Given the description of an element on the screen output the (x, y) to click on. 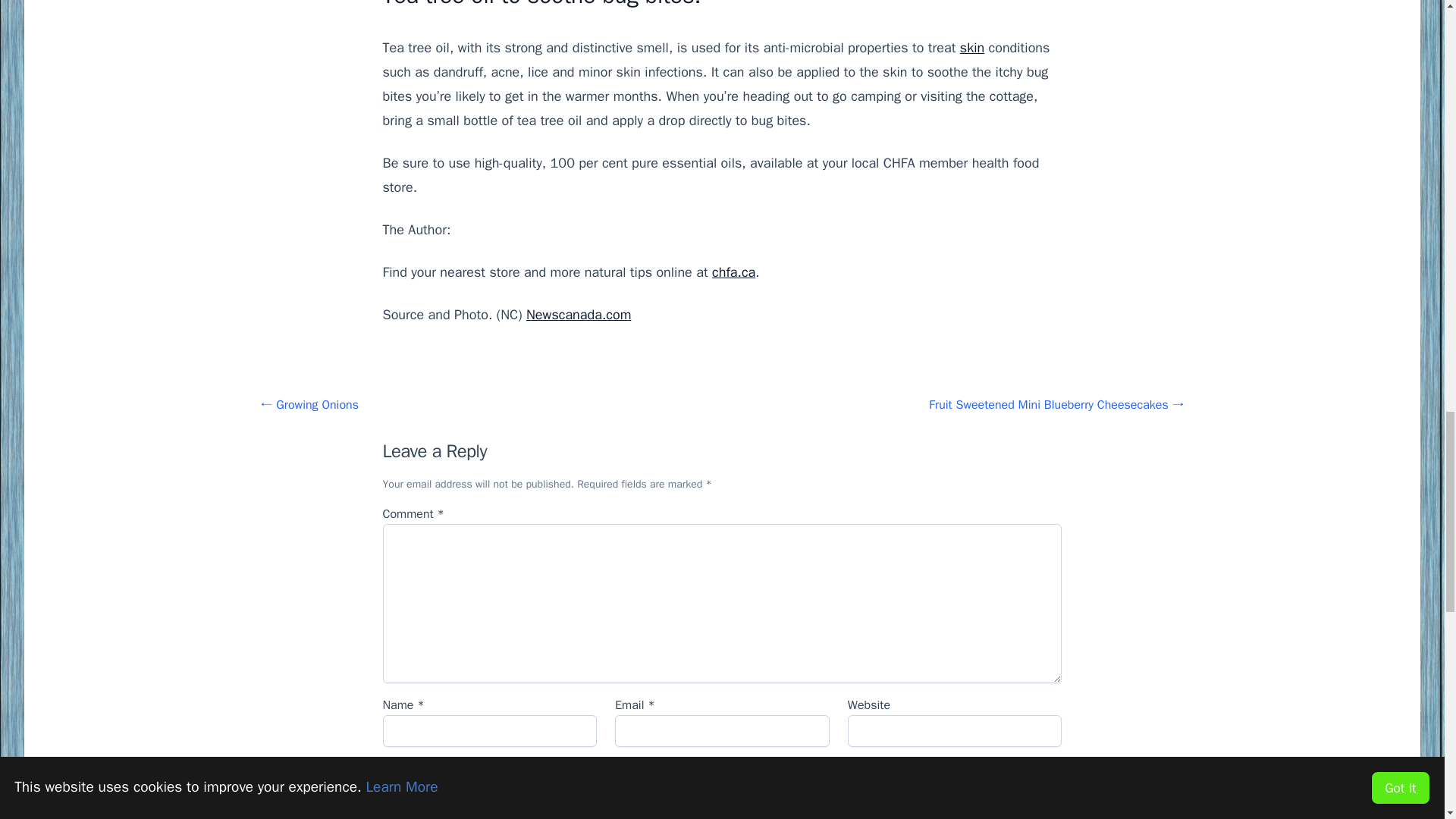
Post Comment (444, 807)
yes (387, 769)
